Given the description of an element on the screen output the (x, y) to click on. 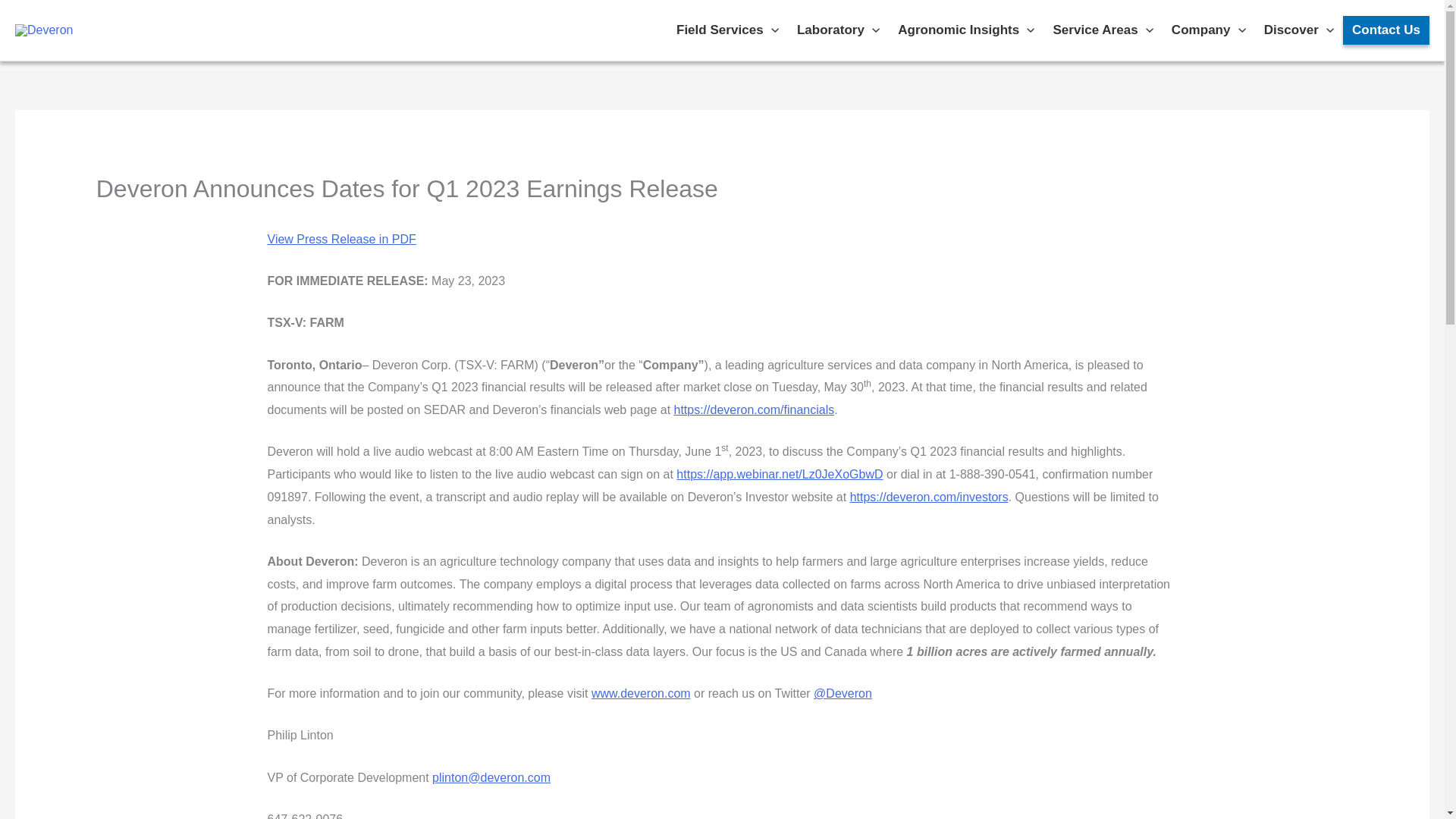
Company (1208, 30)
Service Areas (1102, 30)
Agronomic Insights (965, 30)
Laboratory (837, 30)
Field Services (726, 30)
